Given the description of an element on the screen output the (x, y) to click on. 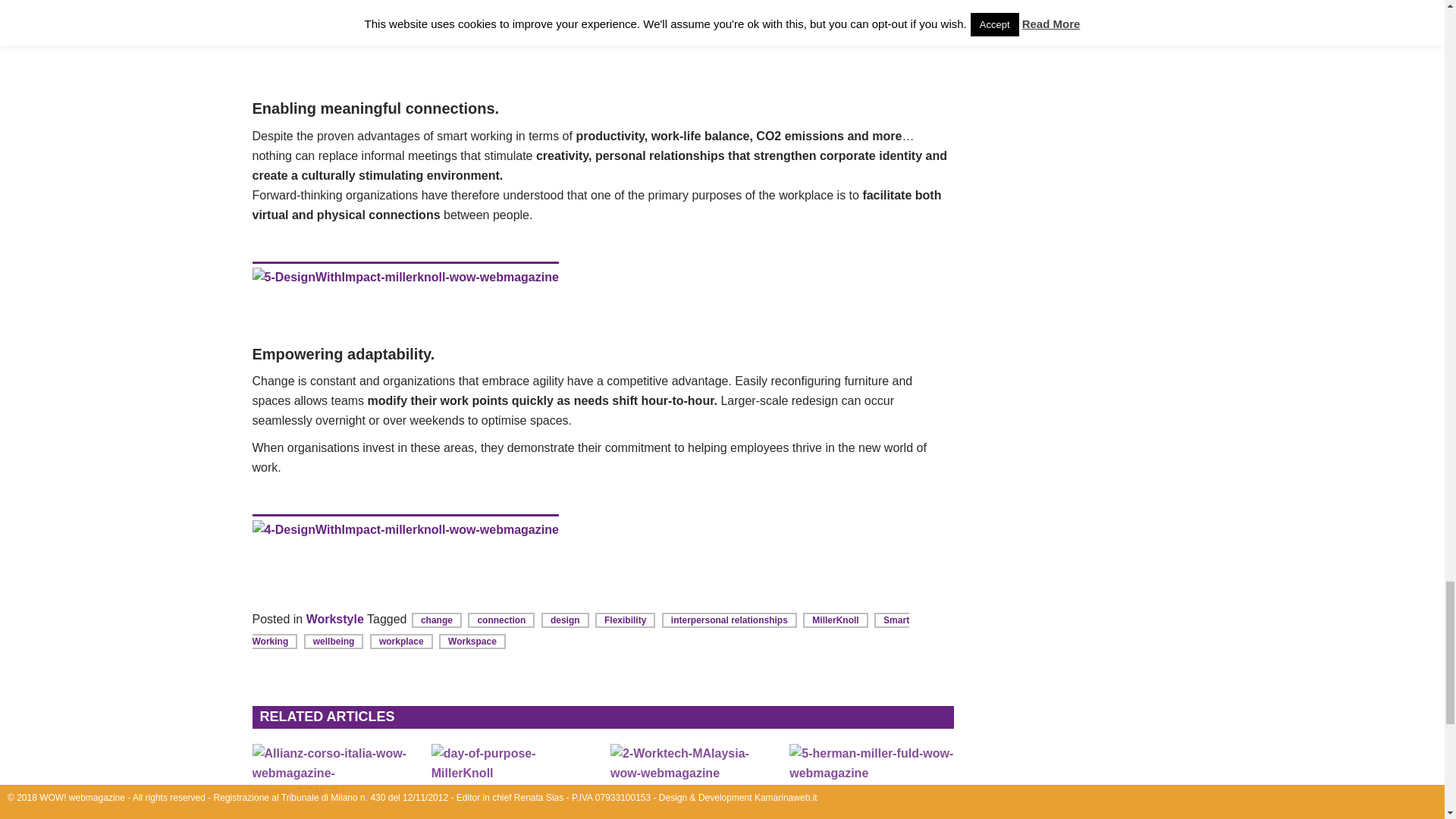
SOM restores Gio Ponti. Redevelopment or sacrilege? (332, 781)
Day of Purpose MillerKnoll: a day dedicated to others. (512, 781)
